Given the description of an element on the screen output the (x, y) to click on. 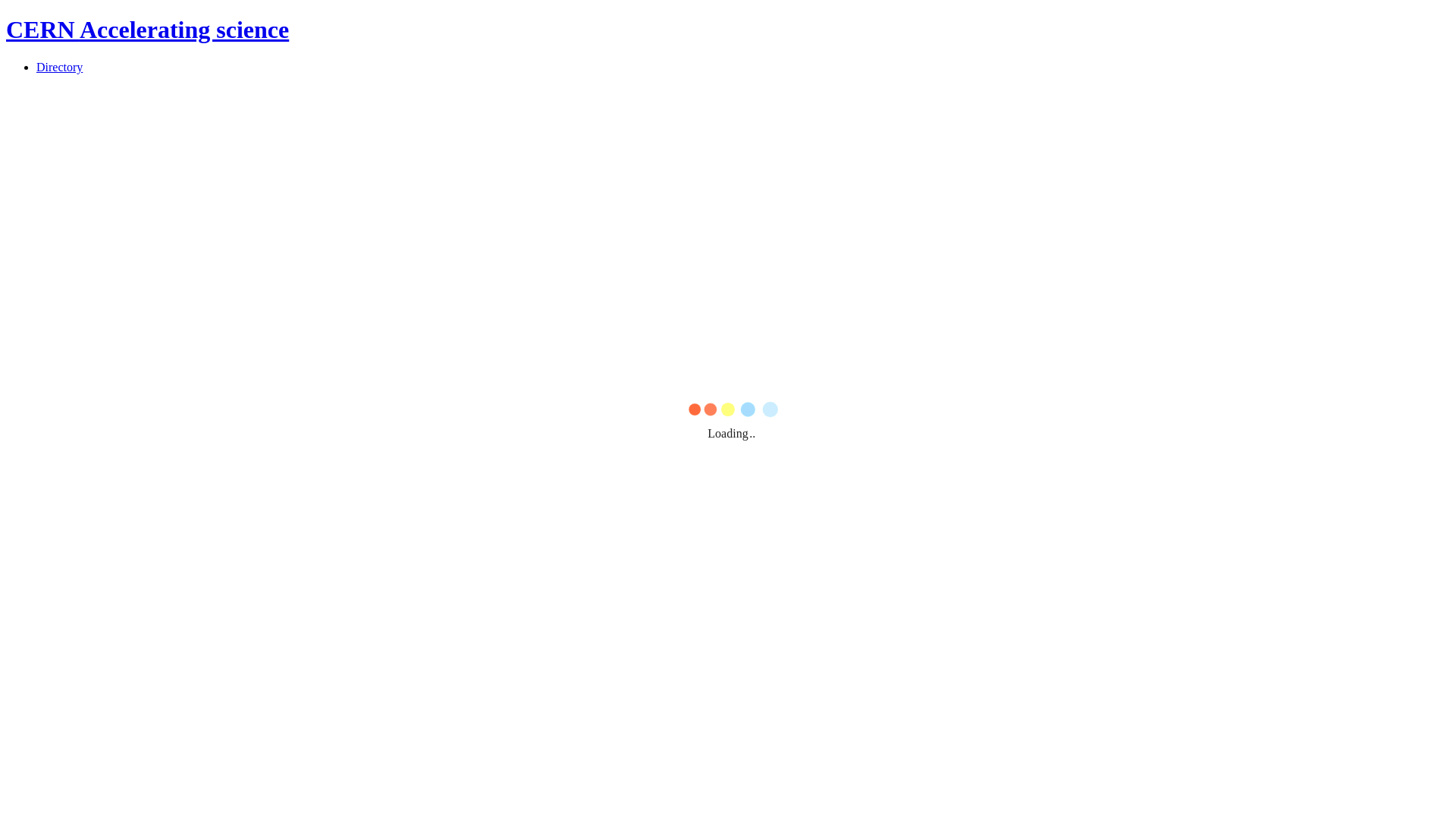
Directory Element type: text (59, 66)
CERN Accelerating science Element type: text (147, 29)
